Given the description of an element on the screen output the (x, y) to click on. 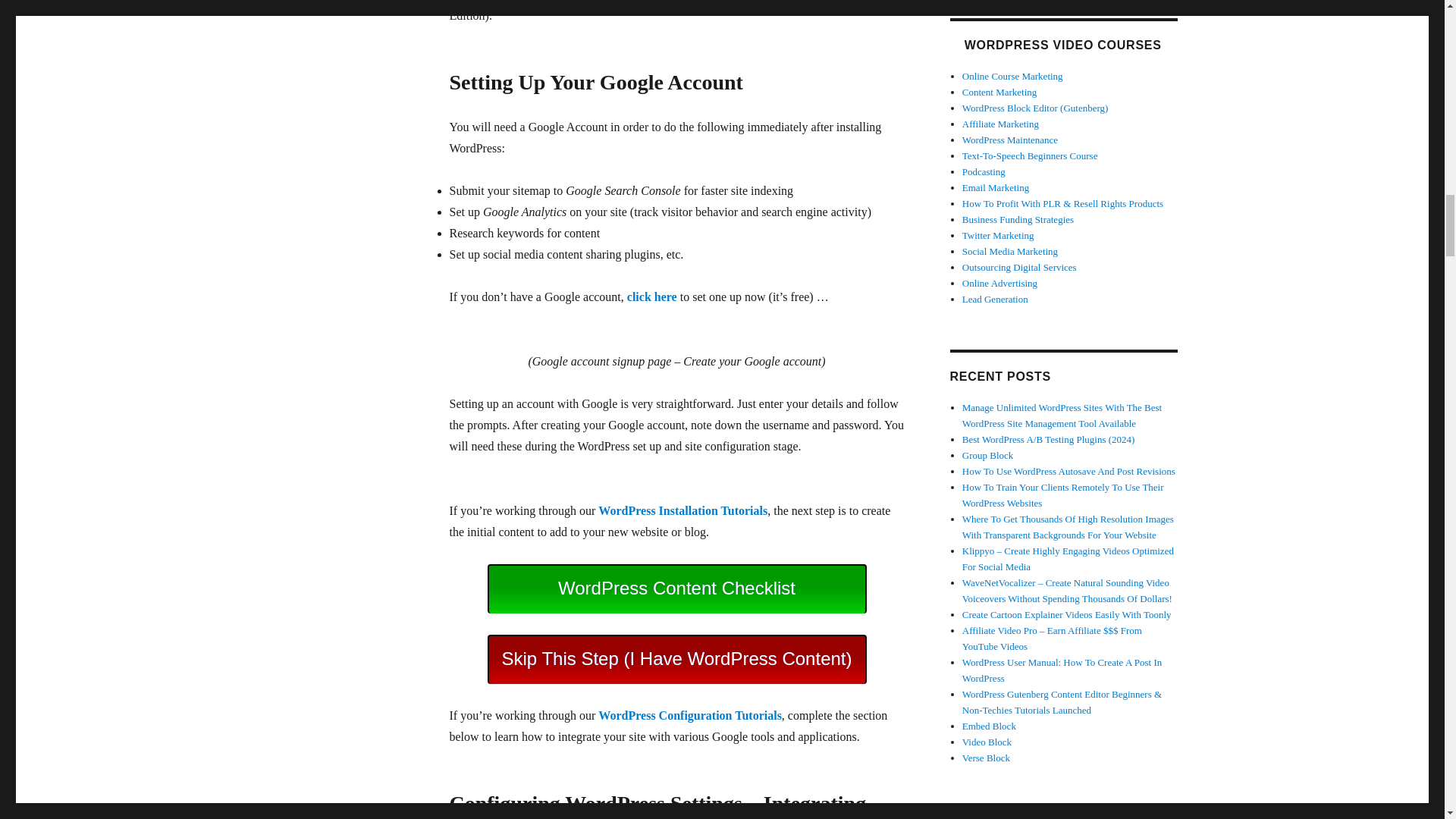
click here (652, 296)
WordPress Installation Tutorials (682, 510)
WordPress Content Checklist (676, 588)
